Given the description of an element on the screen output the (x, y) to click on. 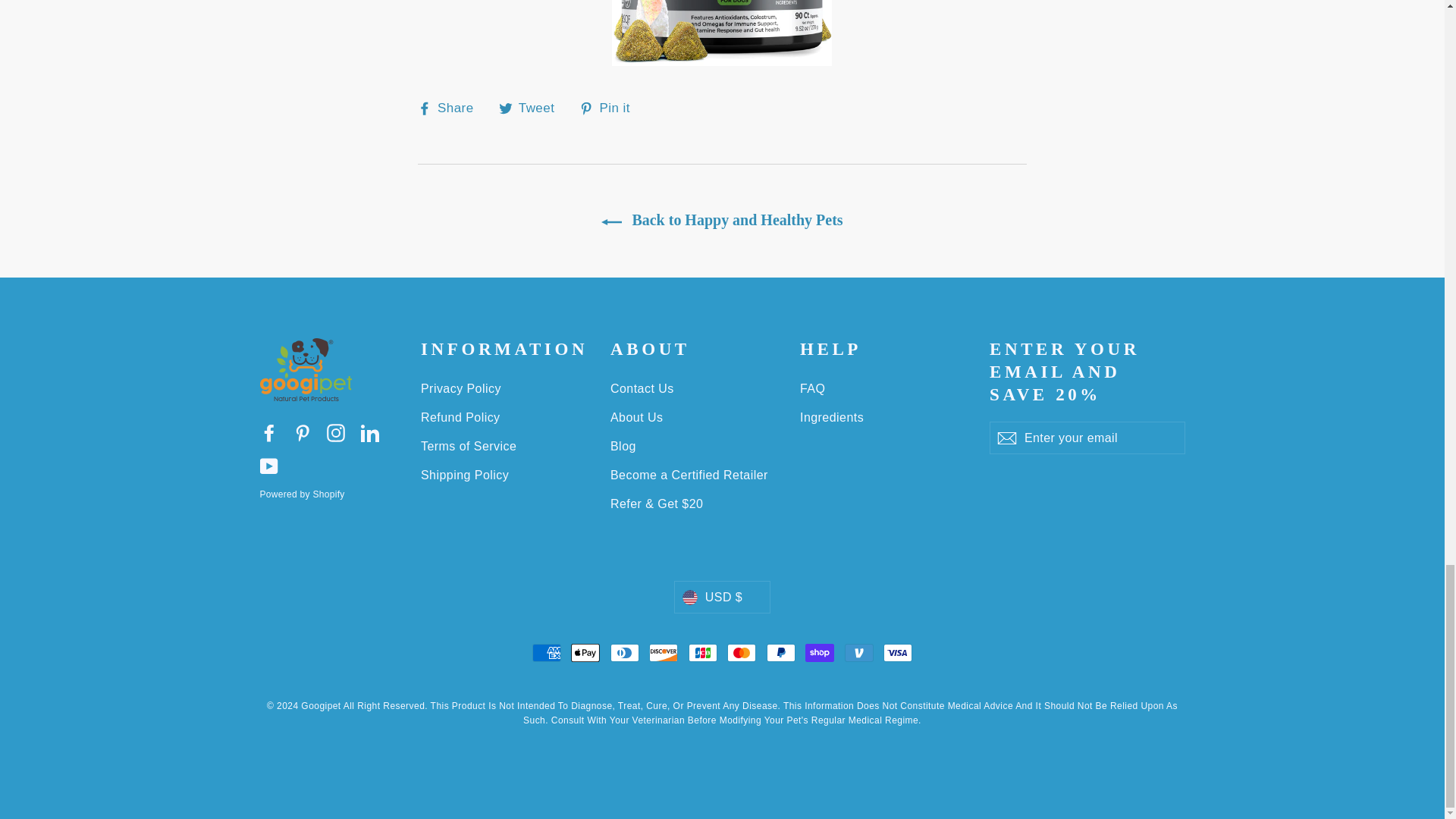
Pin on Pinterest (610, 107)
Discover (663, 652)
Apple Pay (584, 652)
Share on Facebook (450, 107)
JCB (702, 652)
Tweet on Twitter (532, 107)
Diners Club (624, 652)
American Express (546, 652)
